Given the description of an element on the screen output the (x, y) to click on. 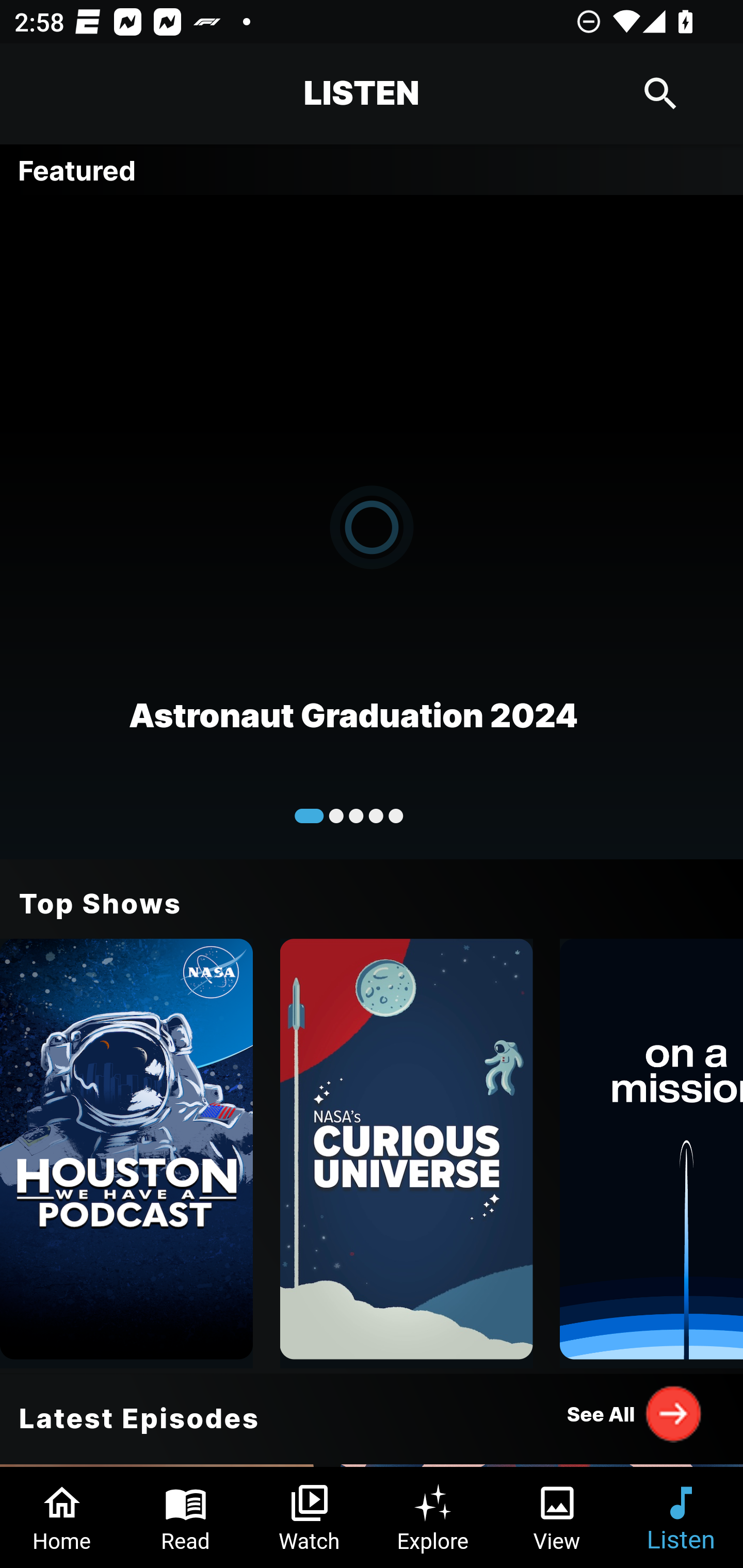
Astronaut Graduation 2024 (371, 526)
See All (634, 1413)
Home
Tab 1 of 6 (62, 1517)
Read
Tab 2 of 6 (185, 1517)
Watch
Tab 3 of 6 (309, 1517)
Explore
Tab 4 of 6 (433, 1517)
View
Tab 5 of 6 (556, 1517)
Listen
Tab 6 of 6 (680, 1517)
